Given the description of an element on the screen output the (x, y) to click on. 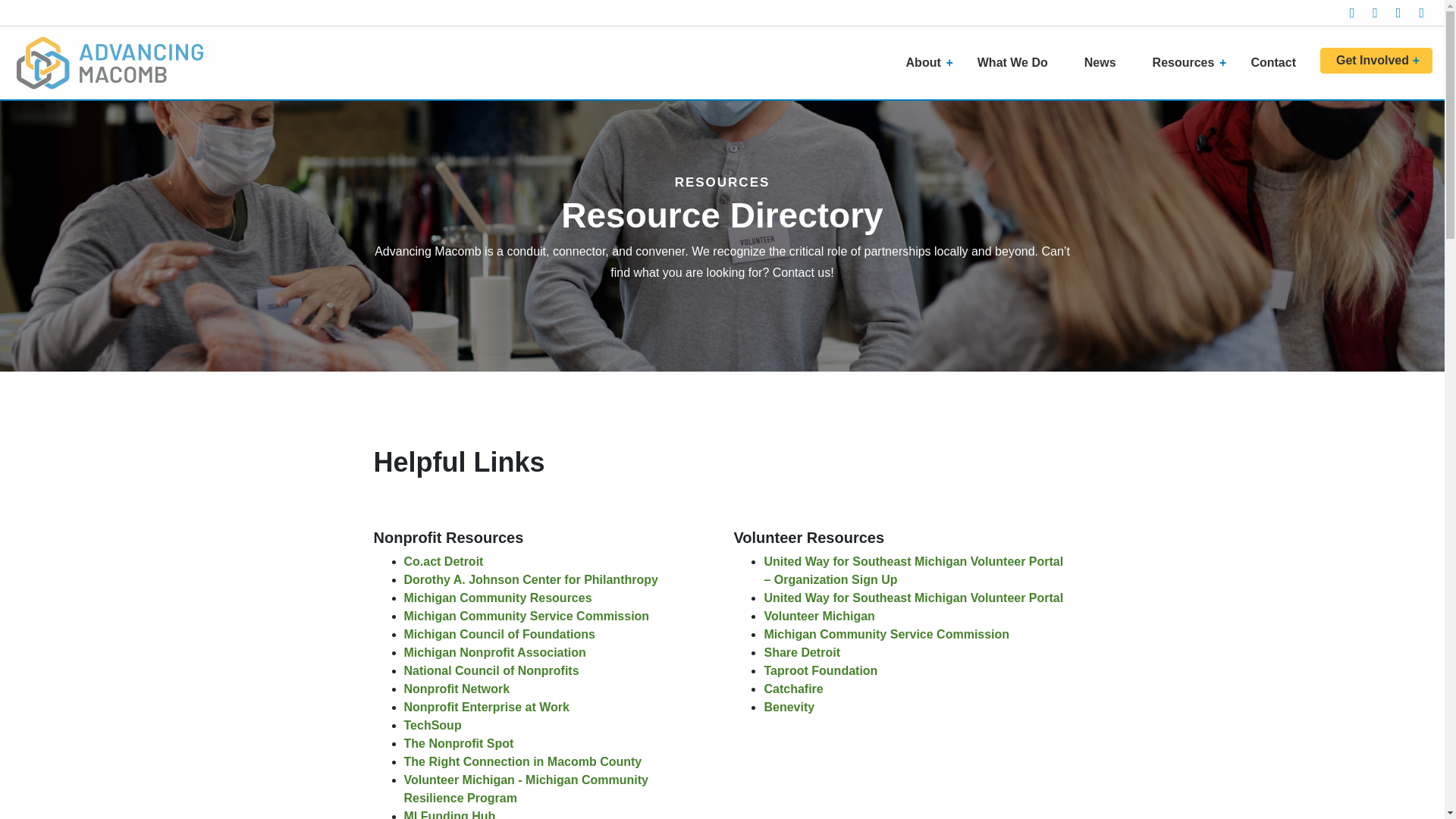
Contact (1279, 62)
What We Do (1018, 62)
News (1105, 62)
